Given the description of an element on the screen output the (x, y) to click on. 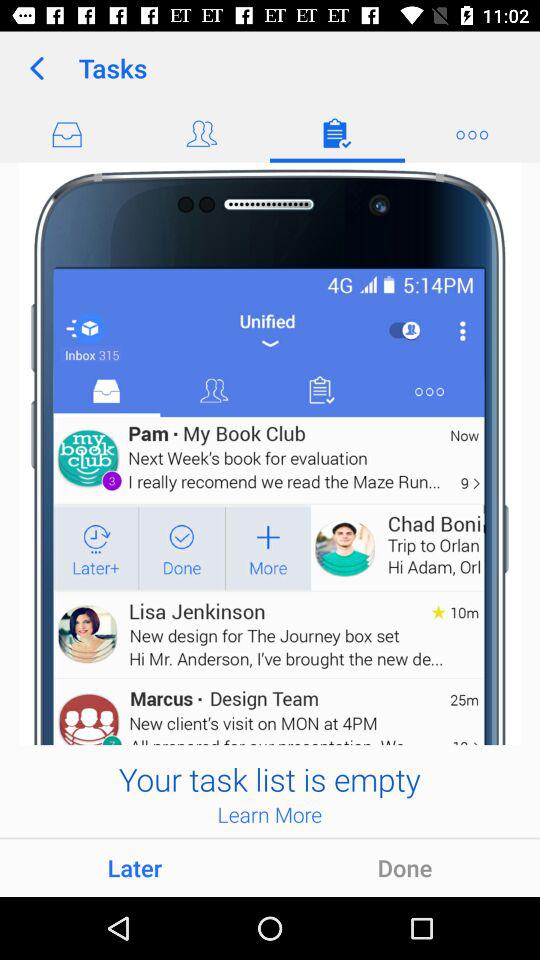
choose learn more item (269, 814)
